Given the description of an element on the screen output the (x, y) to click on. 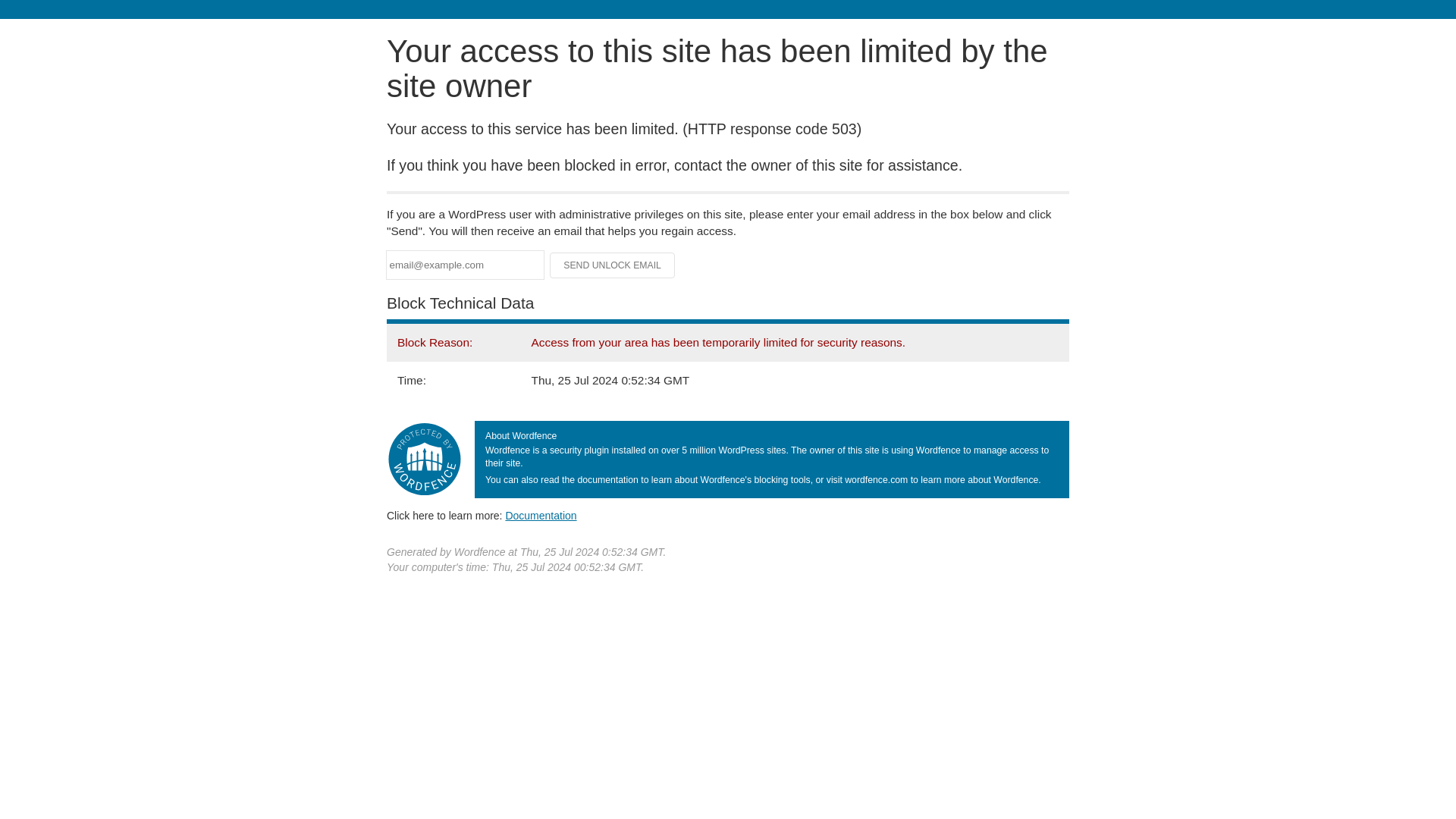
Send Unlock Email (612, 265)
Documentation (540, 515)
Send Unlock Email (612, 265)
